Given the description of an element on the screen output the (x, y) to click on. 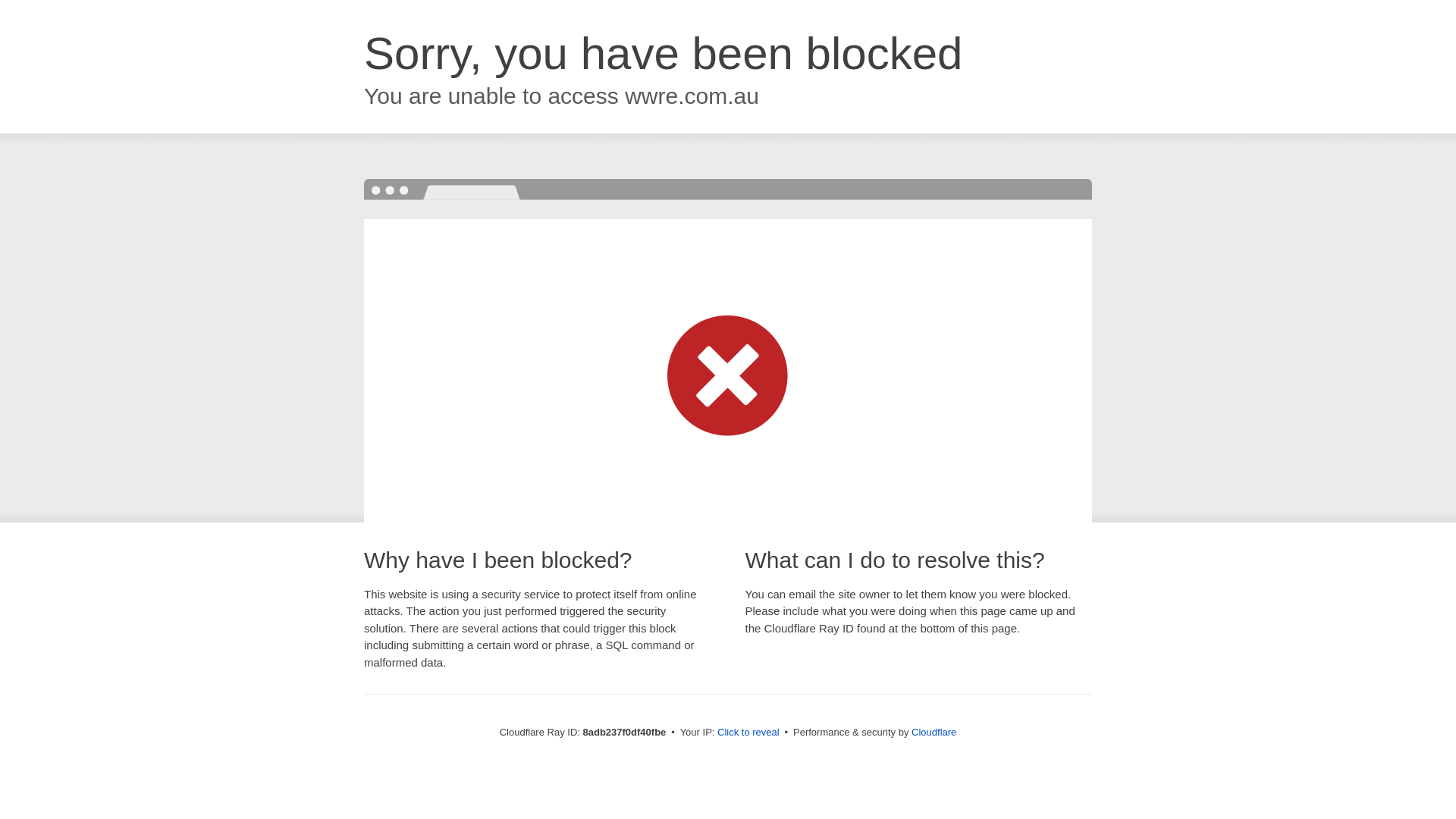
Click to reveal (747, 732)
Cloudflare (933, 731)
